Given the description of an element on the screen output the (x, y) to click on. 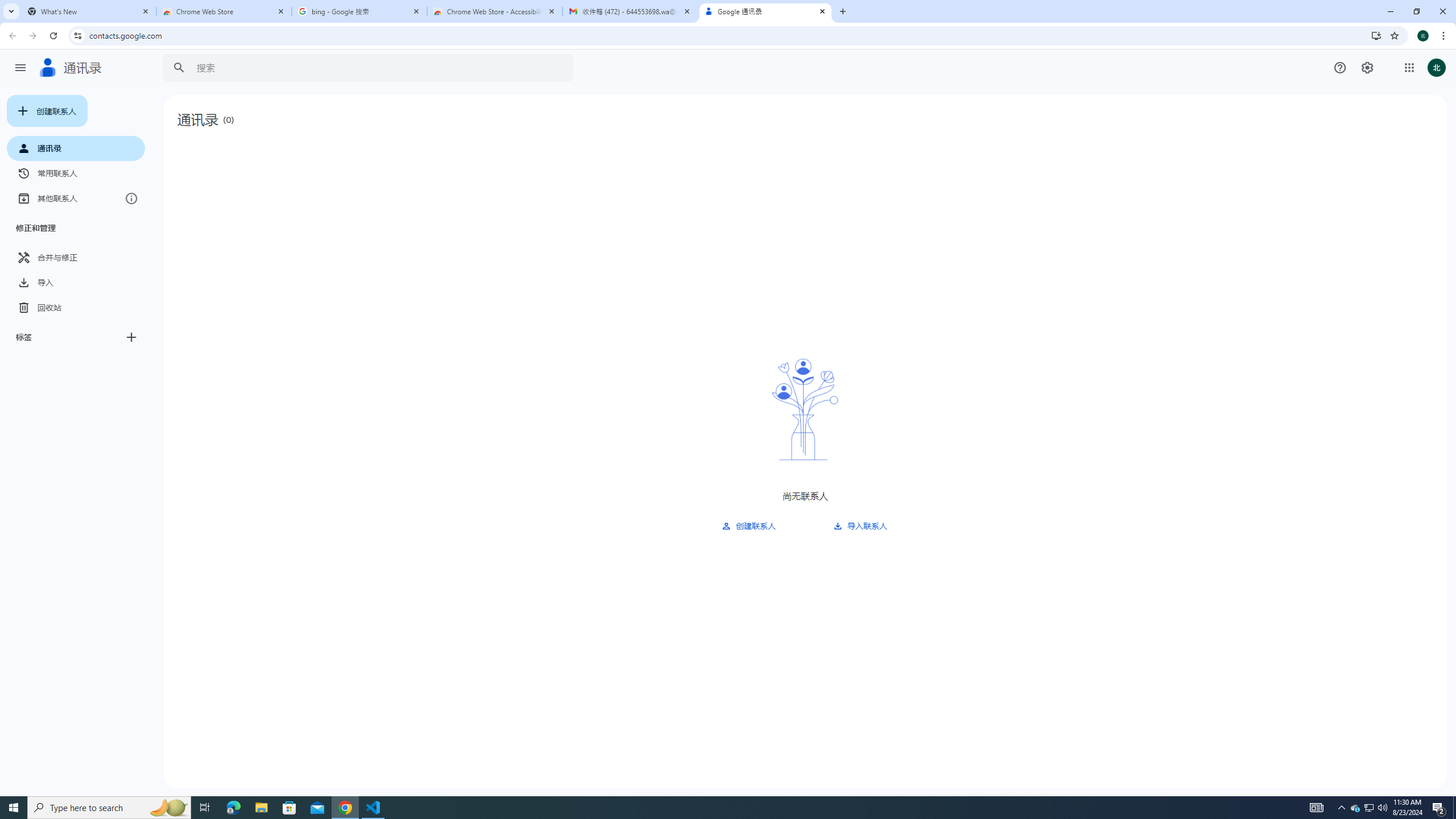
Install Google Contacts (1376, 35)
Chrome Web Store (224, 11)
